Given the description of an element on the screen output the (x, y) to click on. 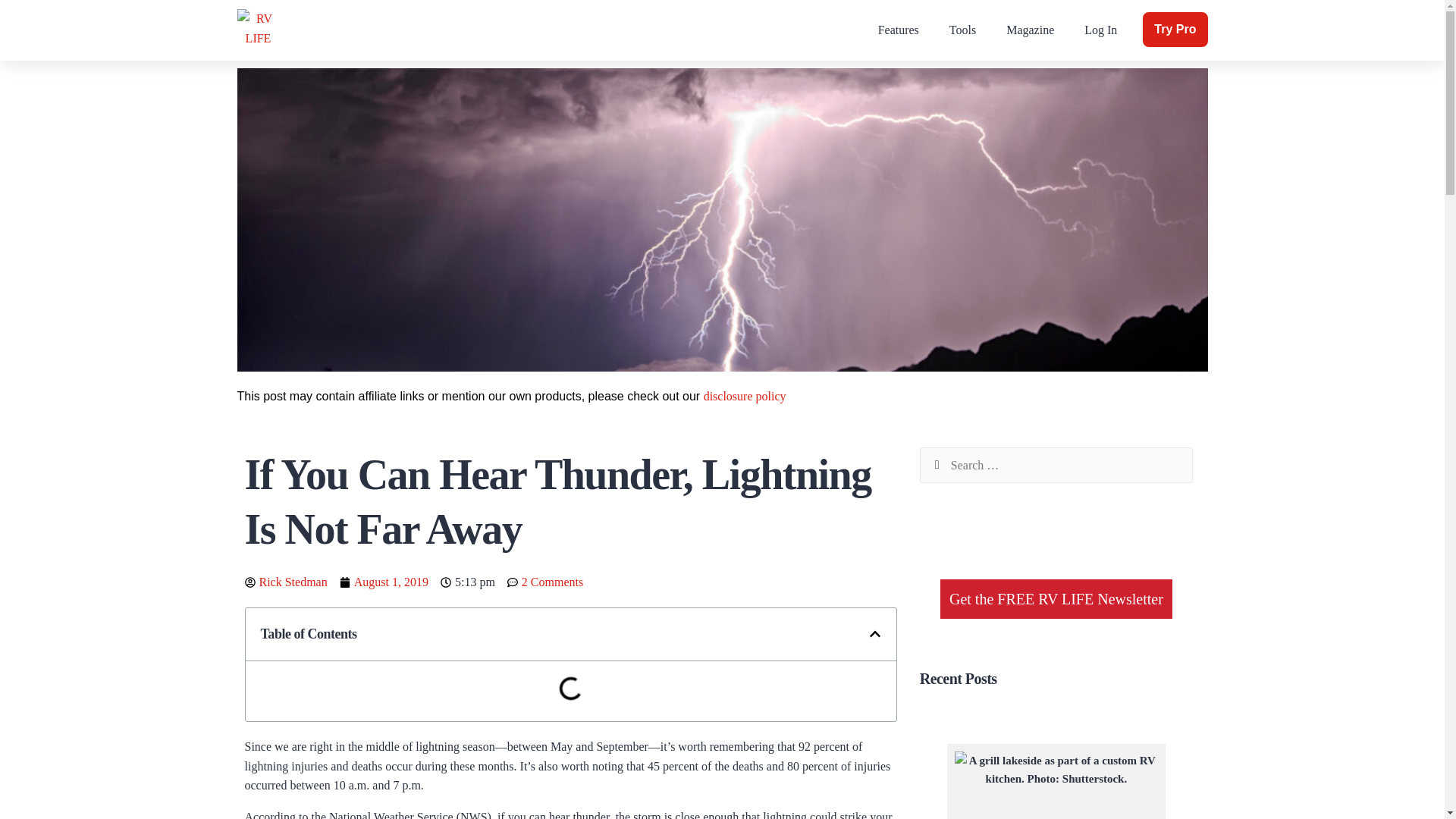
Magazine (1029, 30)
Log In (1100, 30)
Tools (962, 30)
Features (898, 30)
